Given the description of an element on the screen output the (x, y) to click on. 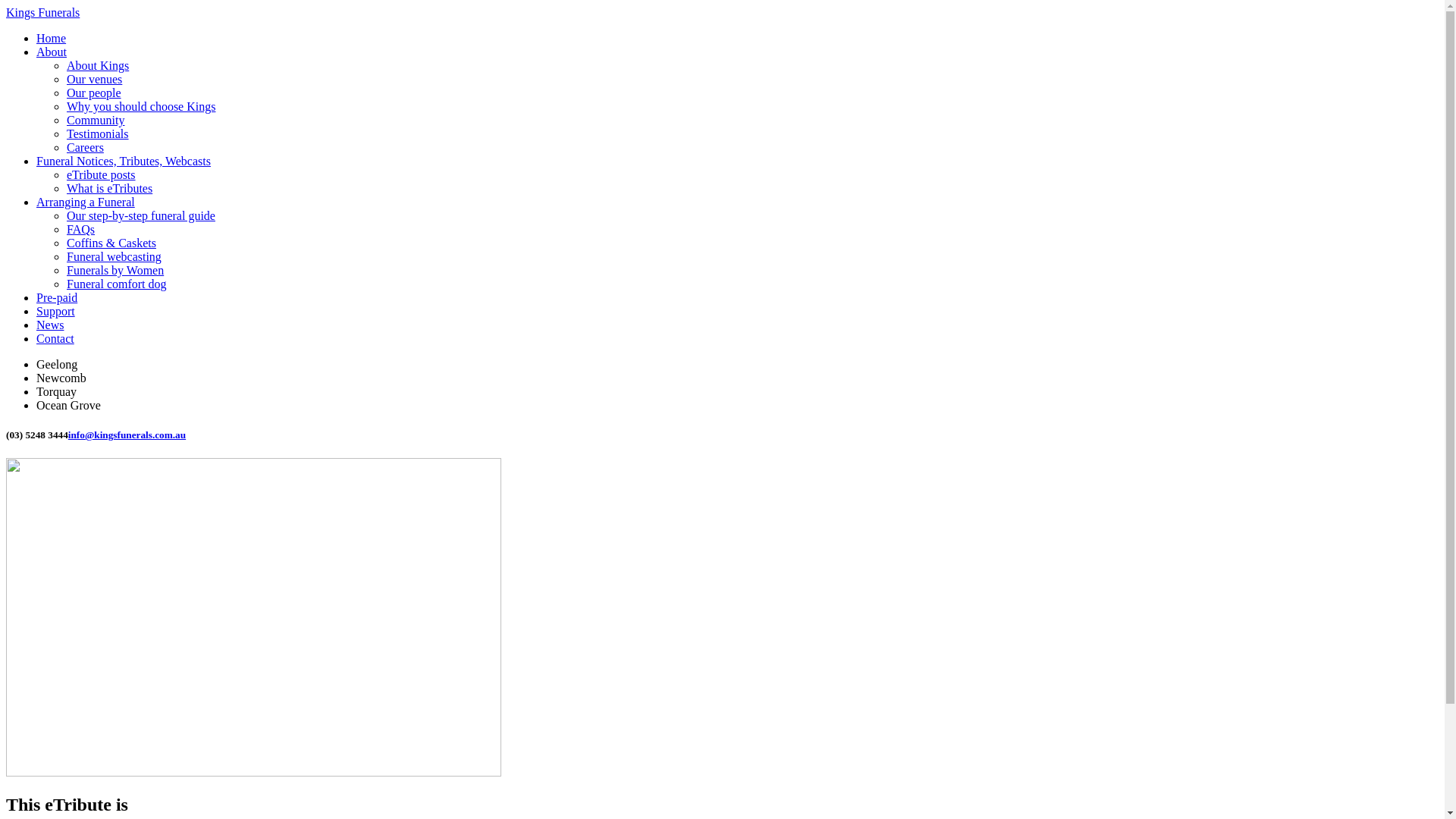
eTribute posts Element type: text (100, 174)
info@kingsfunerals.com.au Element type: text (126, 434)
Our venues Element type: text (94, 78)
About Element type: text (51, 51)
About Kings Element type: text (97, 65)
Community Element type: text (95, 119)
Contact Element type: text (55, 338)
Support Element type: text (55, 310)
Our people Element type: text (93, 92)
Funeral Notices, Tributes, Webcasts Element type: text (123, 160)
Coffins & Caskets Element type: text (111, 242)
News Element type: text (49, 324)
Home Element type: text (50, 37)
FAQs Element type: text (80, 228)
Arranging a Funeral Element type: text (85, 201)
Careers Element type: text (84, 147)
Kings Funerals Element type: text (42, 12)
Funeral comfort dog Element type: text (116, 283)
Funerals by Women Element type: text (114, 269)
Our step-by-step funeral guide Element type: text (140, 215)
Why you should choose Kings Element type: text (140, 106)
Testimonials Element type: text (97, 133)
What is eTributes Element type: text (109, 188)
Funeral webcasting Element type: text (113, 256)
Pre-paid Element type: text (56, 297)
